Given the description of an element on the screen output the (x, y) to click on. 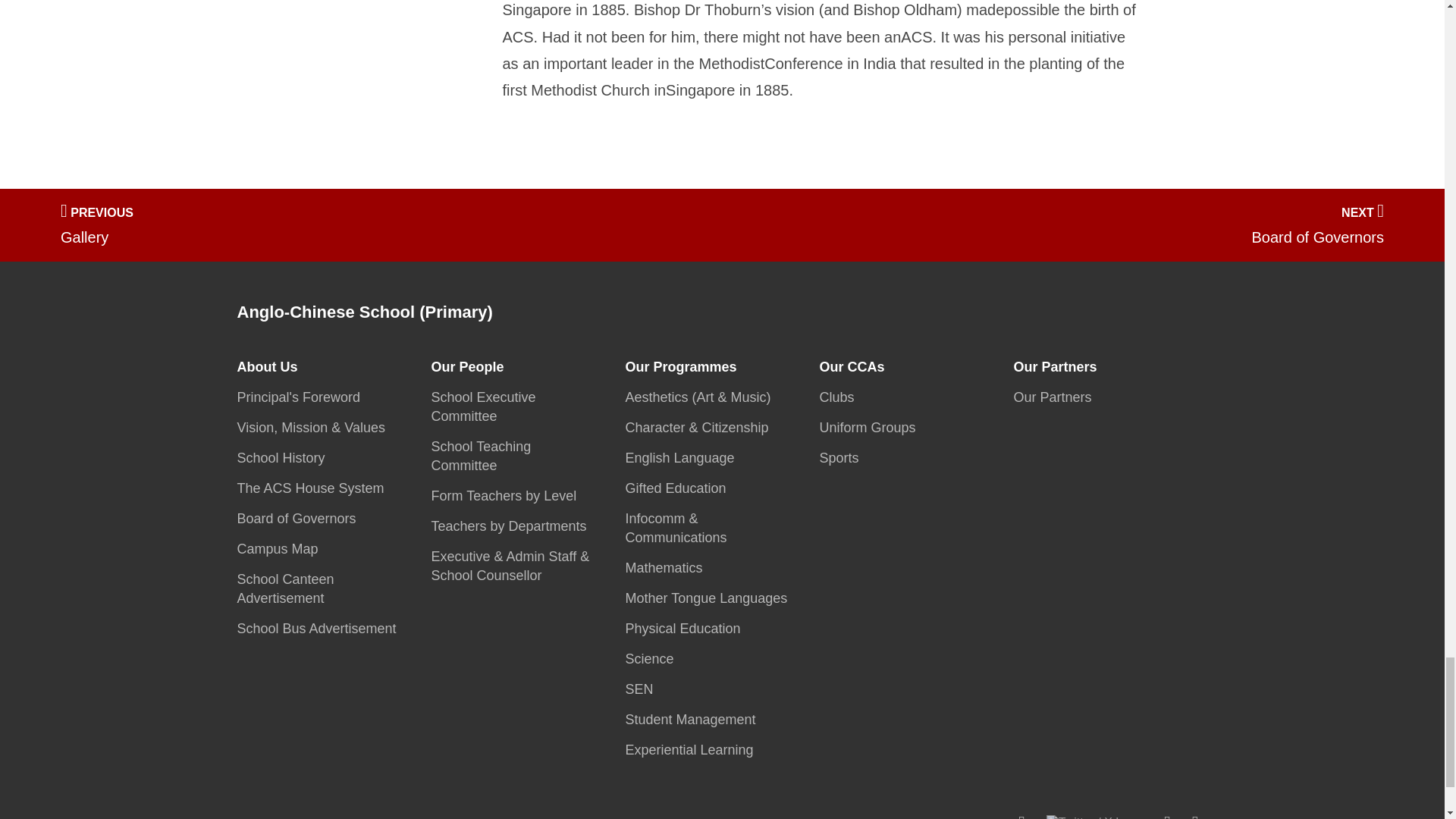
Facebook (1021, 816)
Instagram (1166, 816)
LinkedIn (1195, 816)
